Given the description of an element on the screen output the (x, y) to click on. 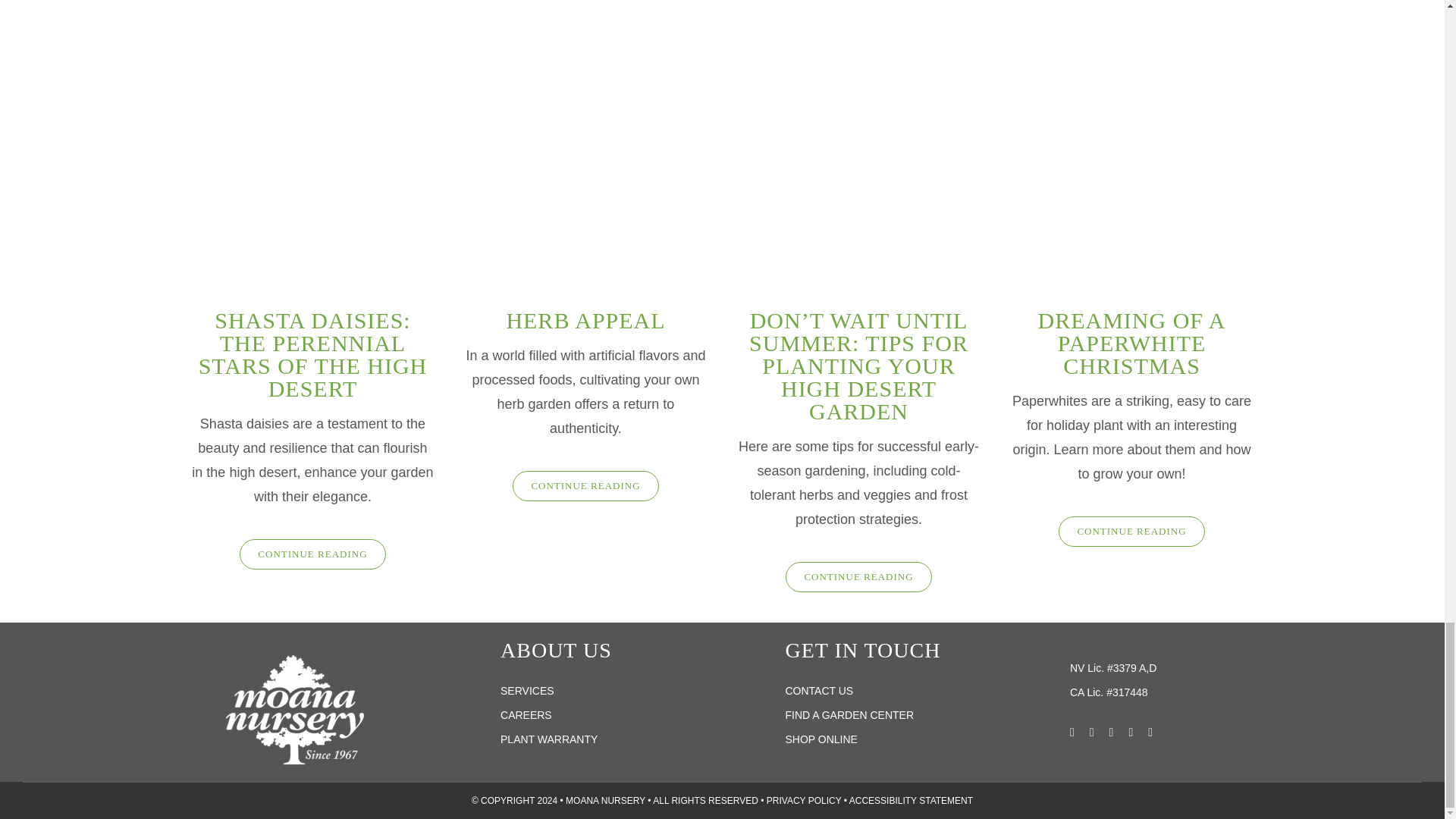
Herb Appeal (585, 157)
